Given the description of an element on the screen output the (x, y) to click on. 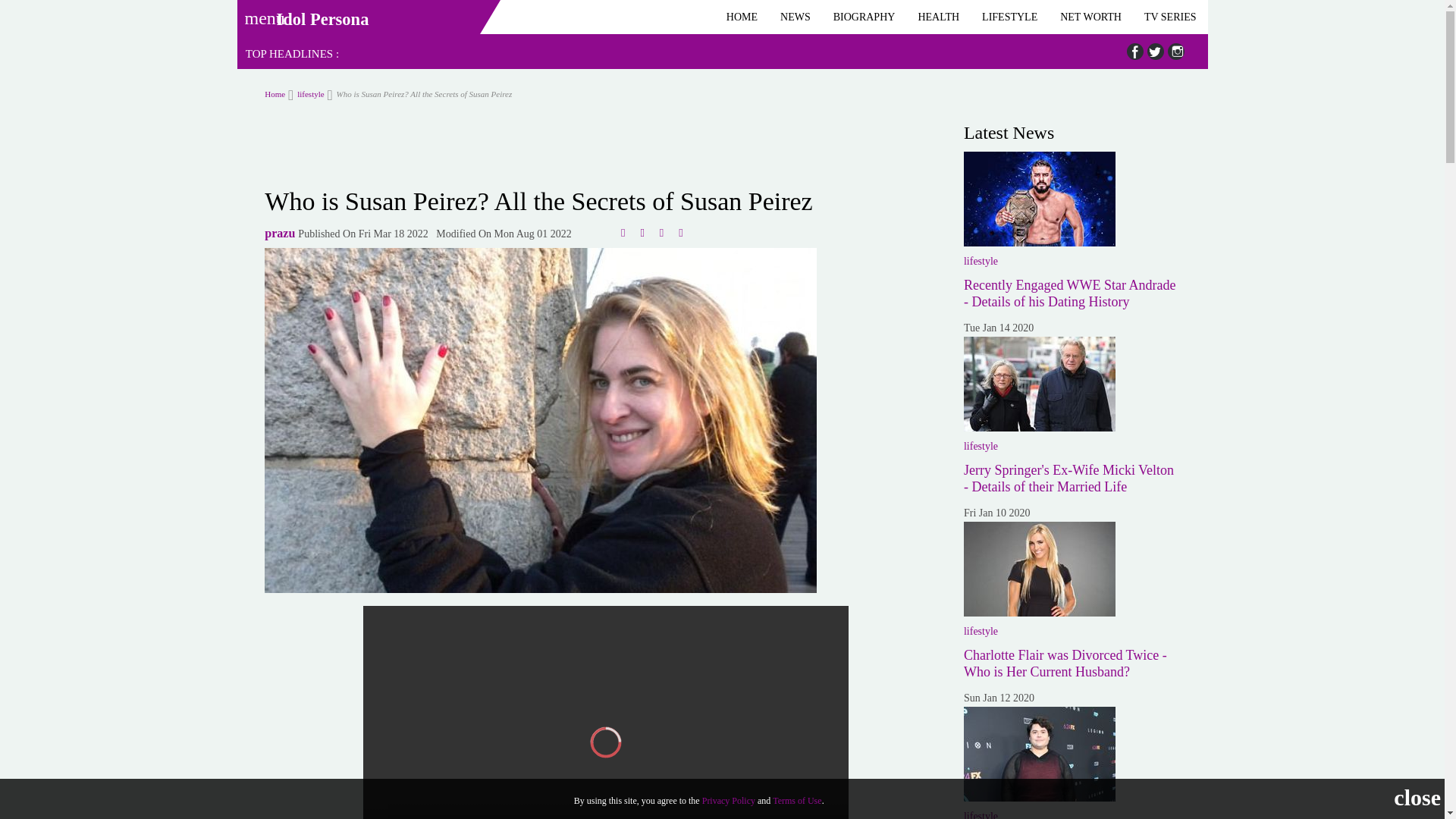
prazu (279, 232)
NEWS (795, 17)
lifestyle (305, 93)
LIFESTYLE (1009, 17)
TV SERIES (1170, 17)
Idol Persona (322, 18)
menu (259, 13)
BIOGRAPHY (864, 17)
Home (274, 93)
Privacy Policy (728, 800)
HOME (741, 17)
HEALTH (938, 17)
Terms of Use (797, 800)
NET WORTH (1090, 17)
